Given the description of an element on the screen output the (x, y) to click on. 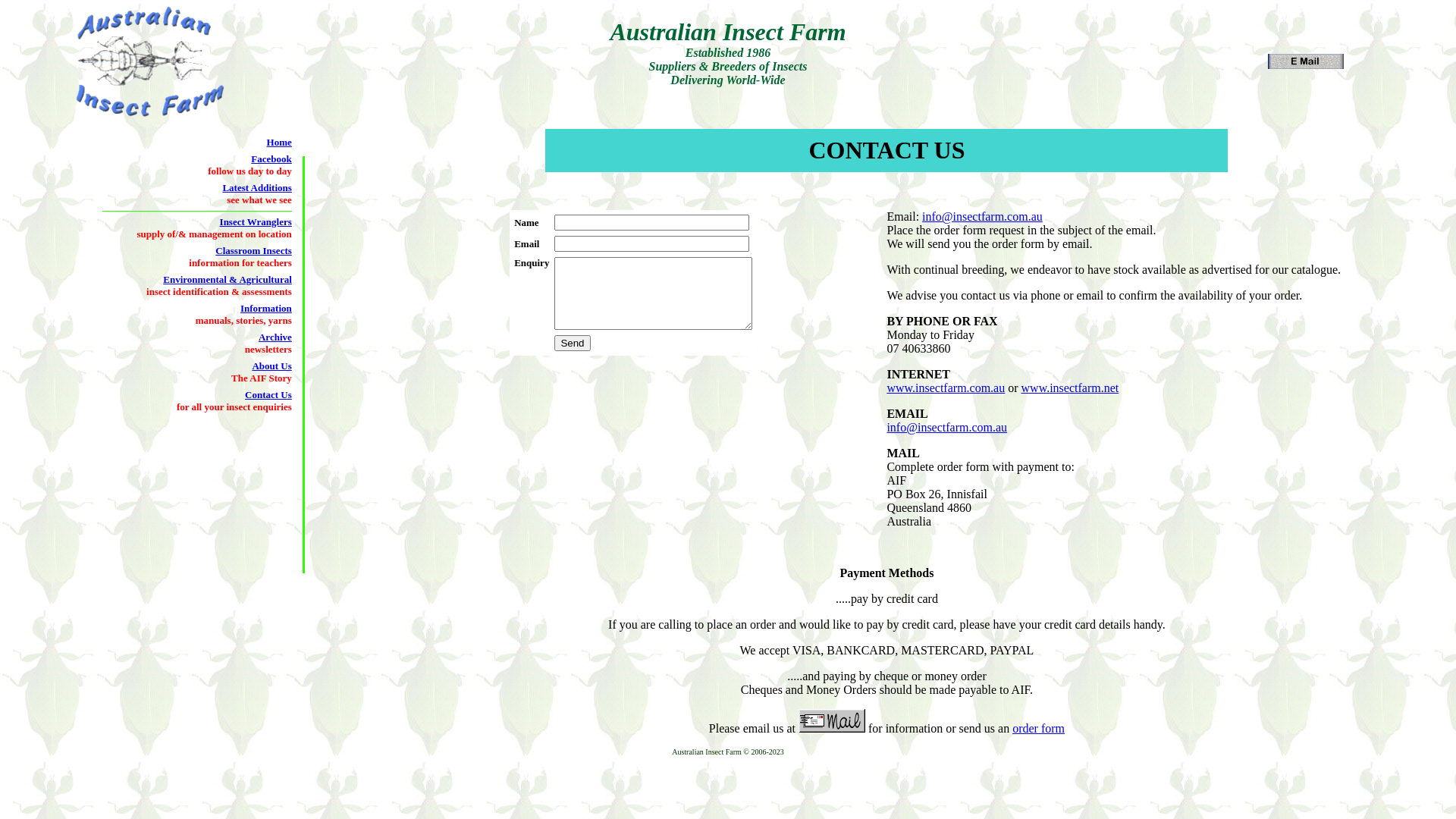
Latest Additions Element type: text (256, 187)
order form Element type: text (1038, 727)
Contact Us Element type: text (267, 394)
Insect Wranglers Element type: text (255, 221)
Home Element type: text (278, 141)
info@insectfarm.com.au Element type: text (946, 426)
Information Element type: text (265, 307)
www.insectfarm.net Element type: text (1070, 387)
Send Element type: text (571, 343)
About Us Element type: text (271, 365)
info@insectfarm.com.au Element type: text (982, 216)
Facebook Element type: text (271, 158)
Archive Element type: text (274, 336)
www.insectfarm.com.au Element type: text (945, 387)
Classroom Insects Element type: text (253, 250)
Environmental & Agricultural Element type: text (227, 279)
